Given the description of an element on the screen output the (x, y) to click on. 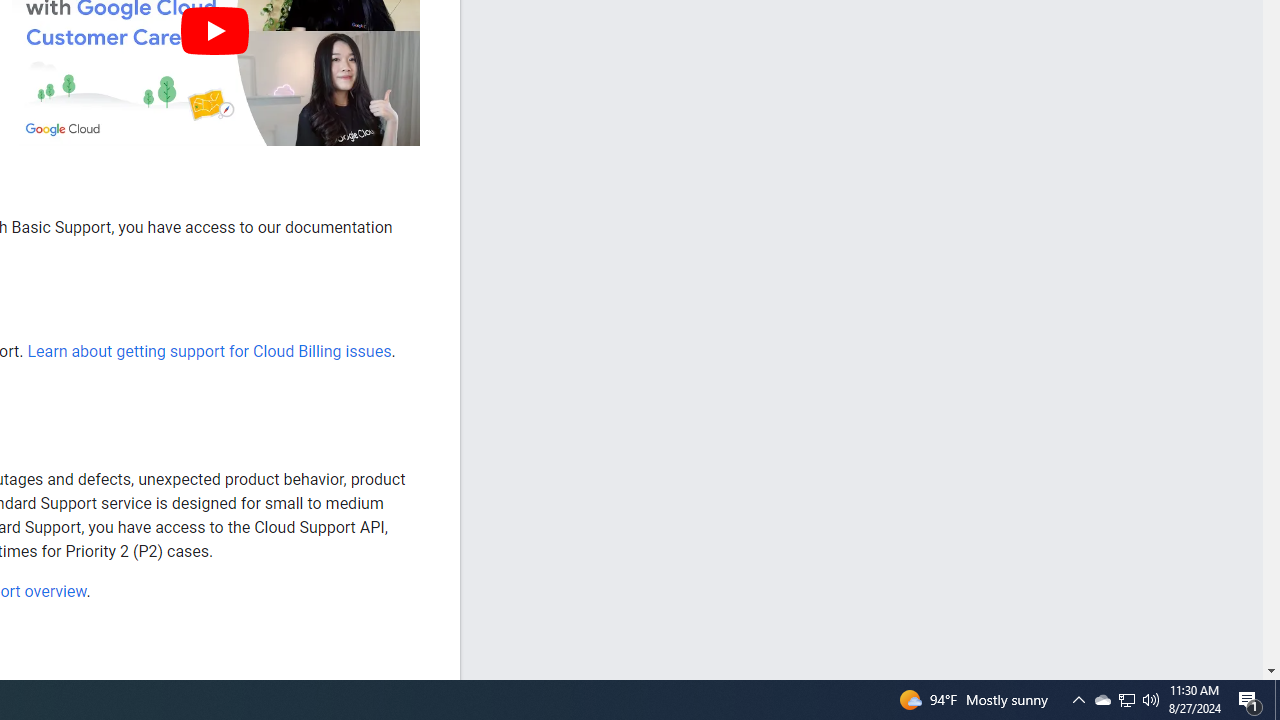
Play (214, 29)
Learn about getting support for Cloud Billing issues (208, 351)
